Given the description of an element on the screen output the (x, y) to click on. 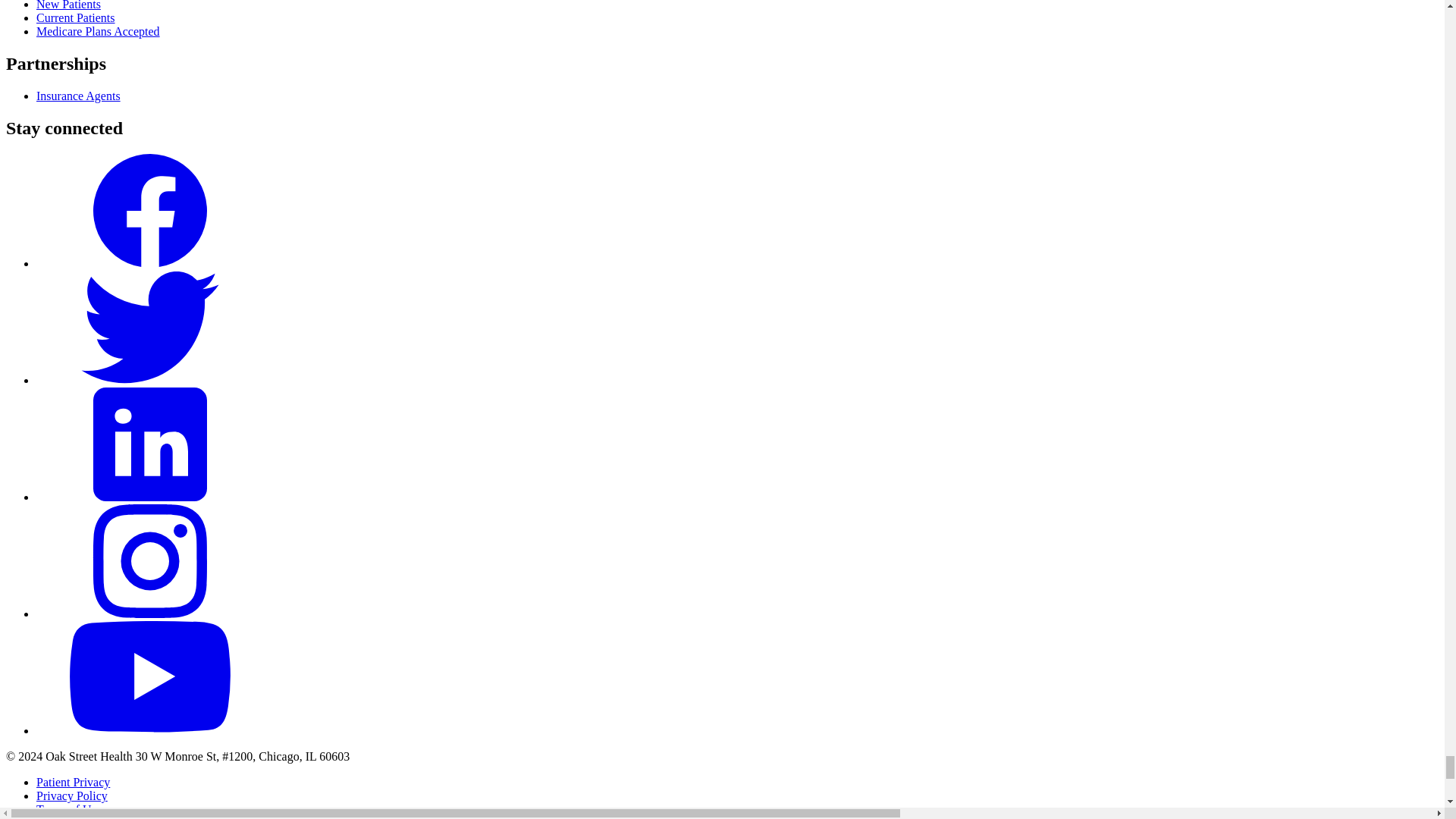
LinkedIn (149, 496)
Instagram (149, 613)
Facebook (149, 263)
YouTube (149, 730)
Twitter (149, 379)
